Given the description of an element on the screen output the (x, y) to click on. 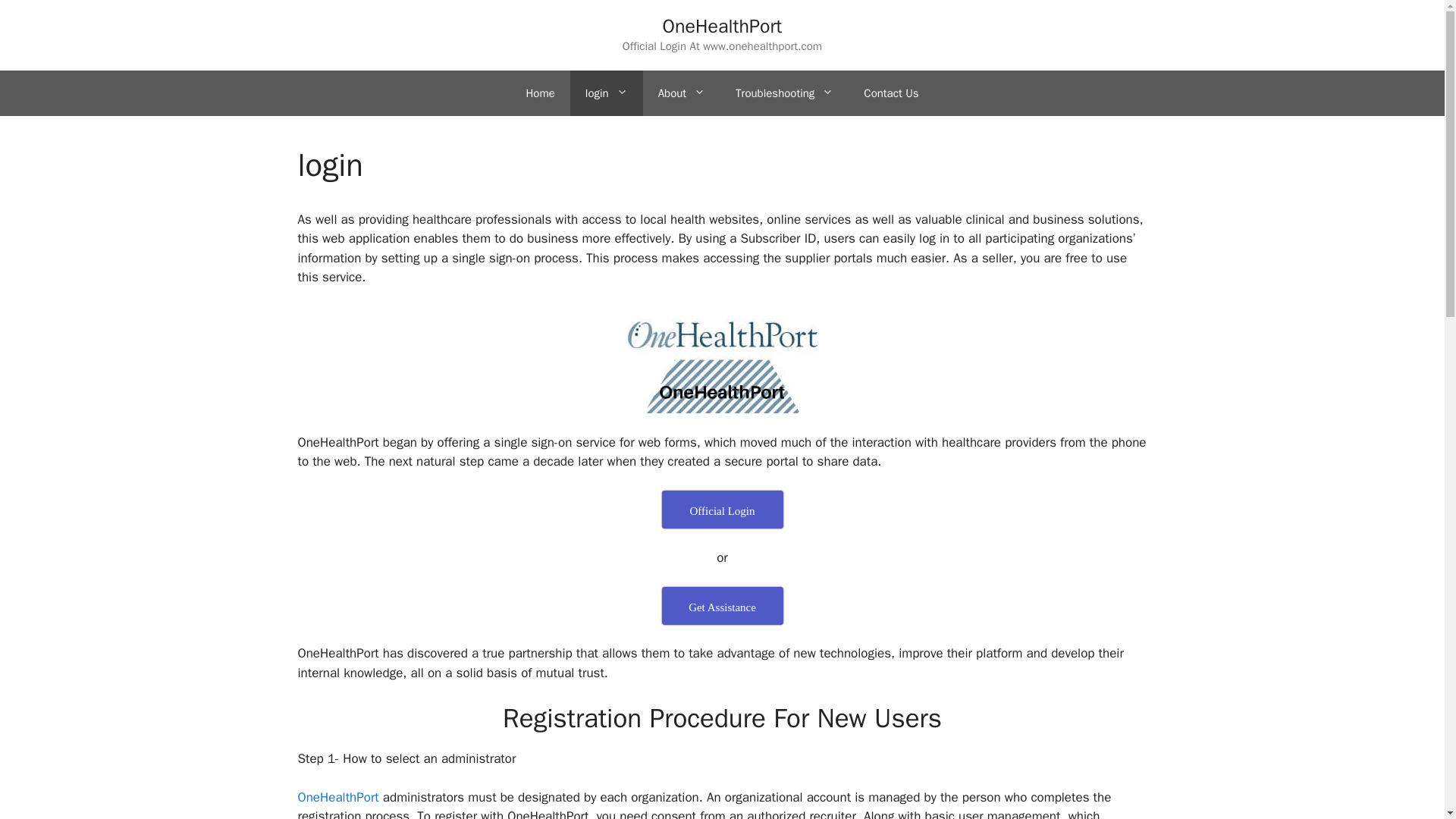
Home (540, 92)
Get Assistance (722, 605)
login (606, 92)
Contact Us (890, 92)
OneHealthPort (722, 25)
About (681, 92)
Troubleshooting (784, 92)
OneHealthPort (337, 797)
Official Login (722, 509)
